Given the description of an element on the screen output the (x, y) to click on. 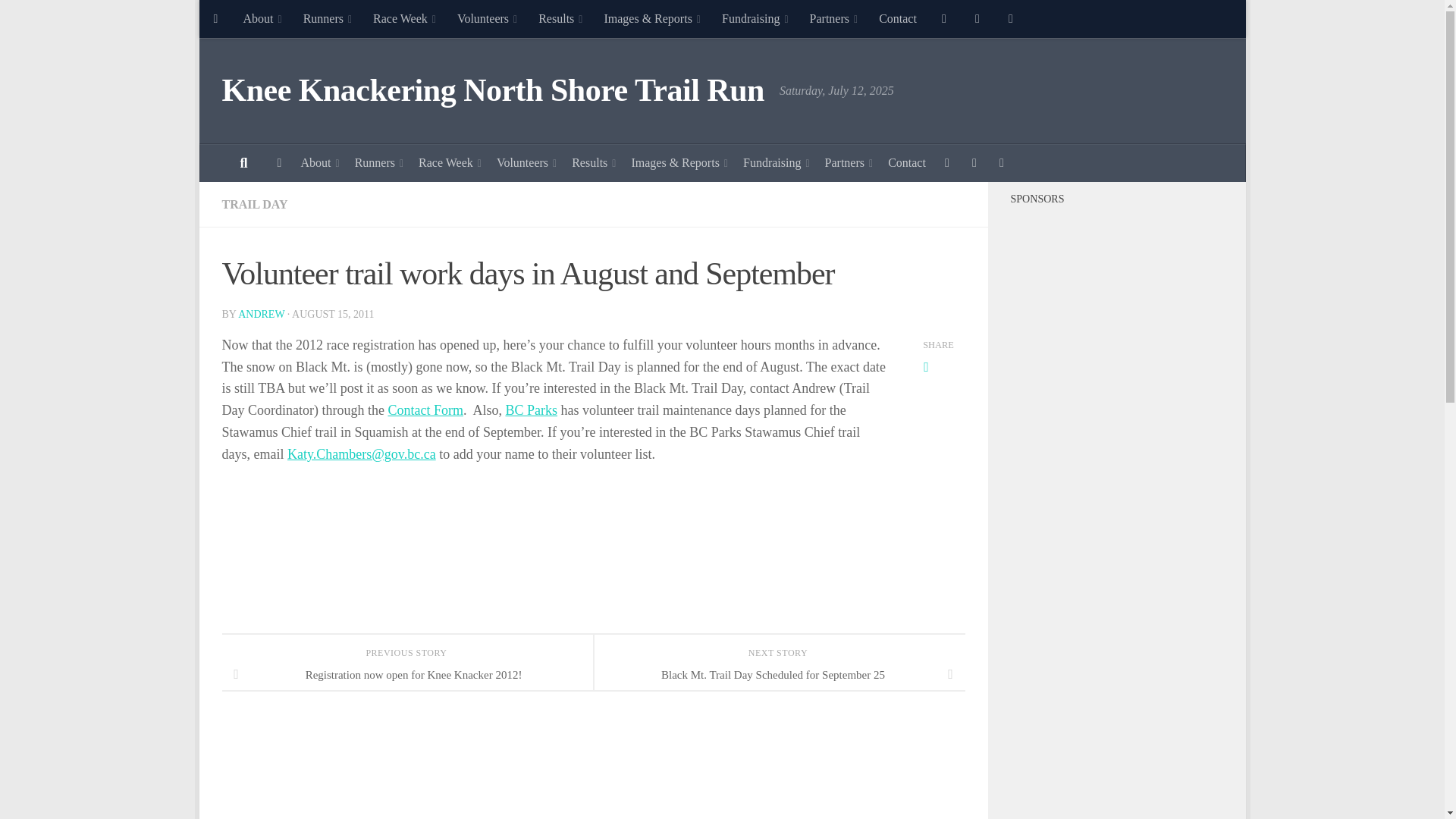
About (261, 18)
Skip to content (258, 20)
Runners (327, 18)
Posts by andrew (260, 314)
Volunteers (486, 18)
Race Week (404, 18)
